Given the description of an element on the screen output the (x, y) to click on. 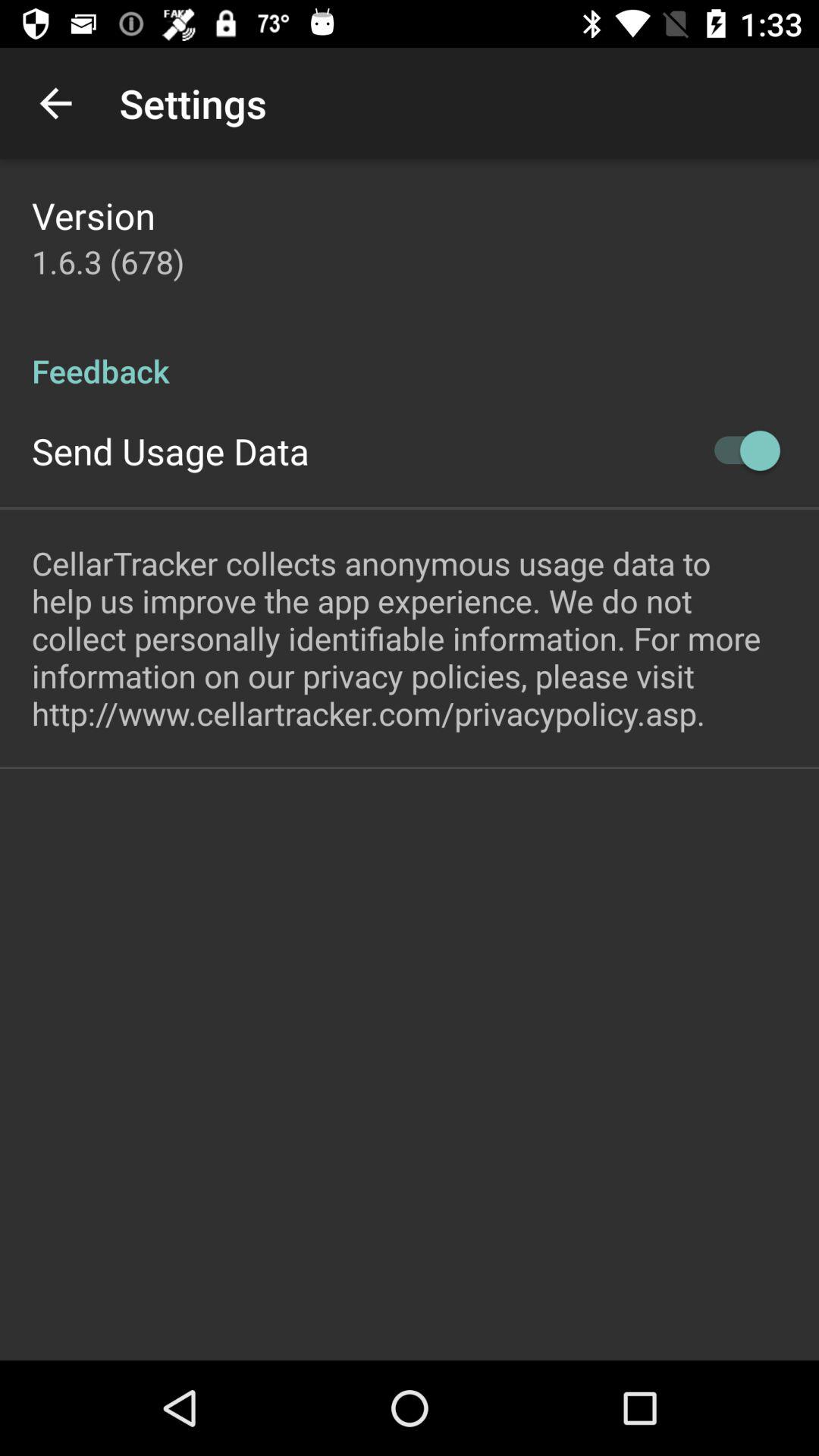
launch the app above the version item (55, 103)
